Given the description of an element on the screen output the (x, y) to click on. 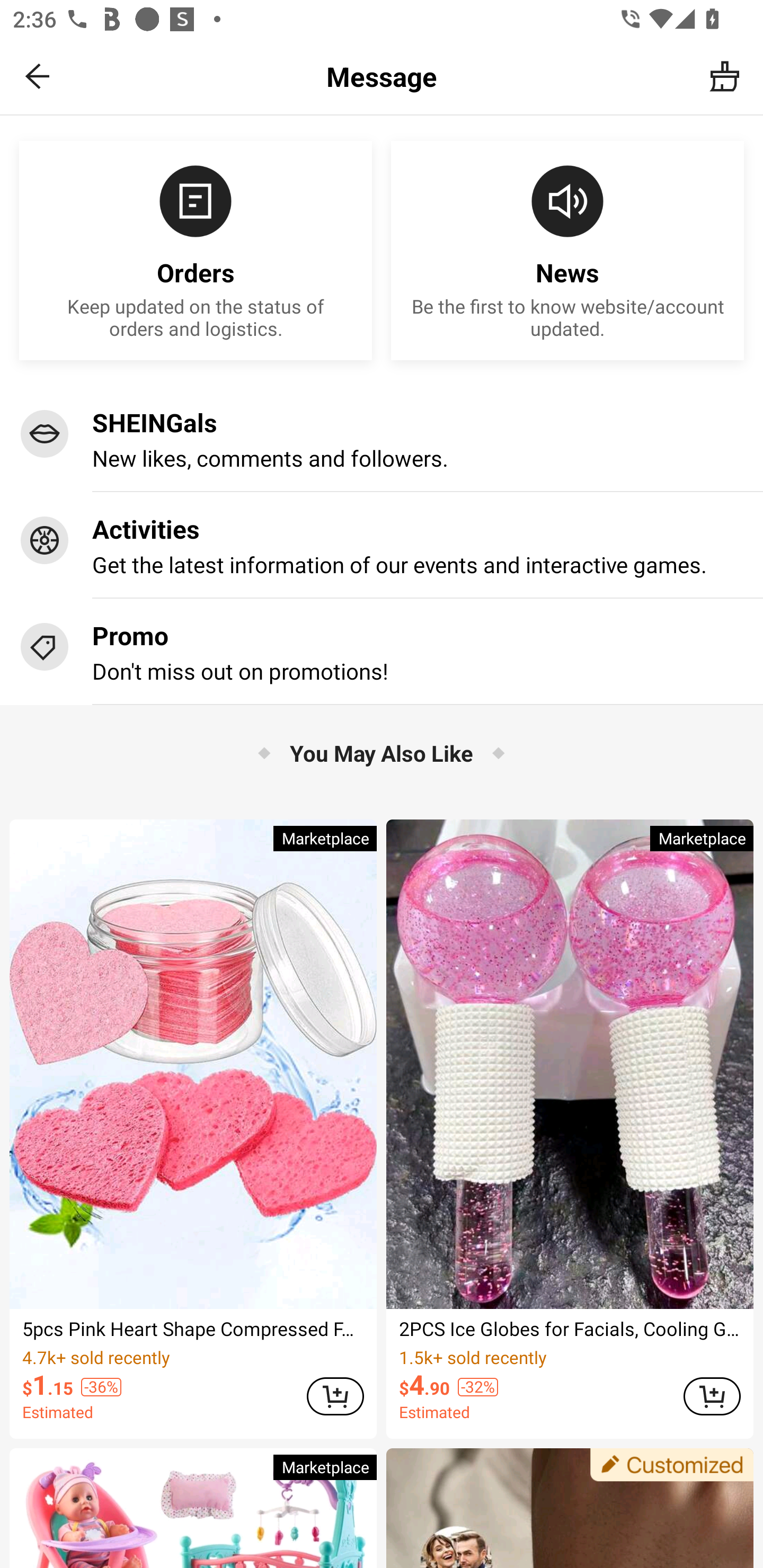
Navigate up (38, 75)
News Be the first to know website/account updated. (566, 250)
SHEINGals New likes, comments and followers. (381, 438)
Promo Don't miss out on promotions! (381, 651)
You May Also Like (381, 752)
ADD TO CART (334, 1395)
ADD TO CART (711, 1395)
